Given the description of an element on the screen output the (x, y) to click on. 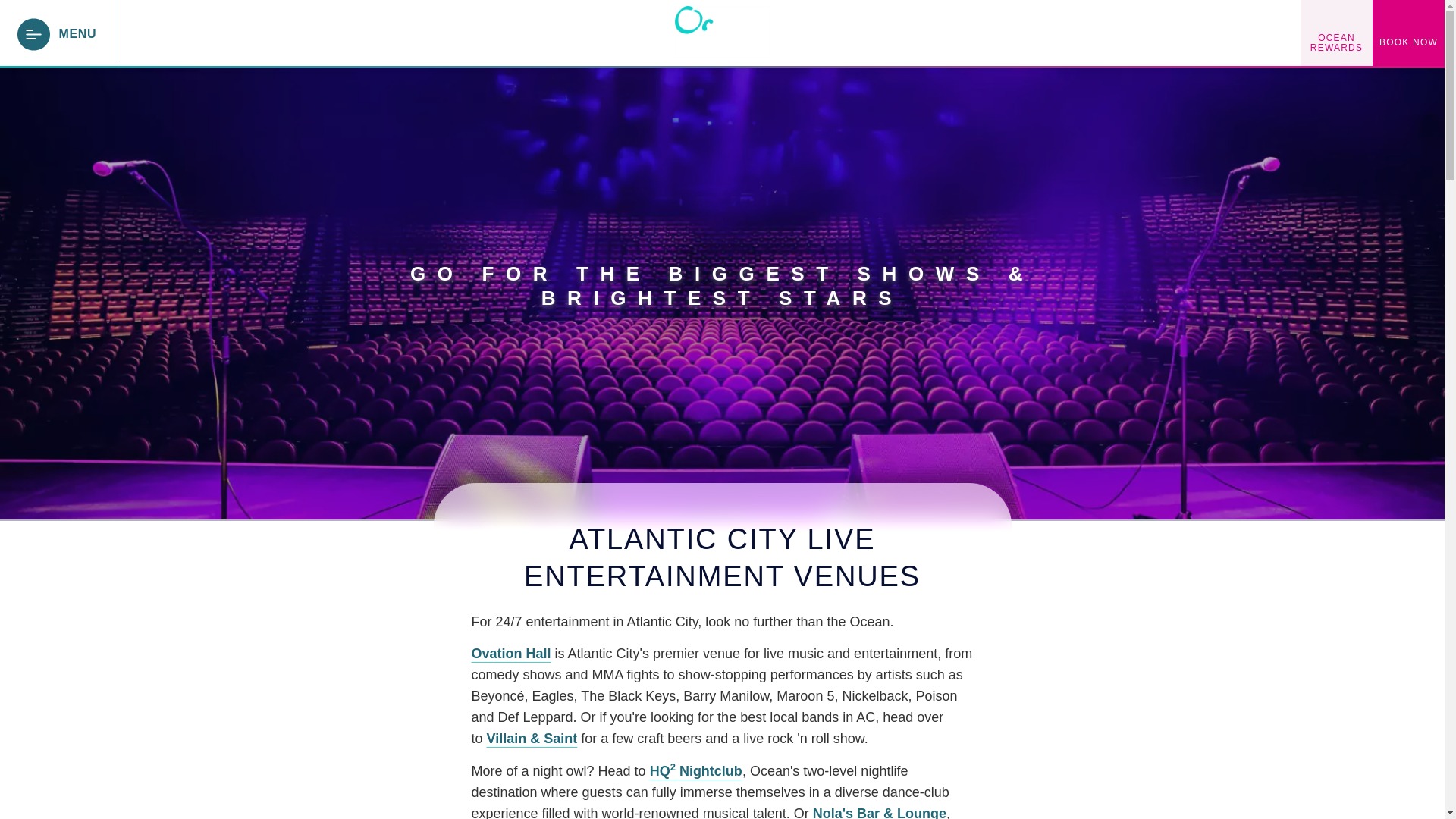
HQ2 Nightclub (695, 770)
MENU (58, 34)
Ovation Hall (511, 653)
Ocean Casino Resort:Home (722, 31)
